Given the description of an element on the screen output the (x, y) to click on. 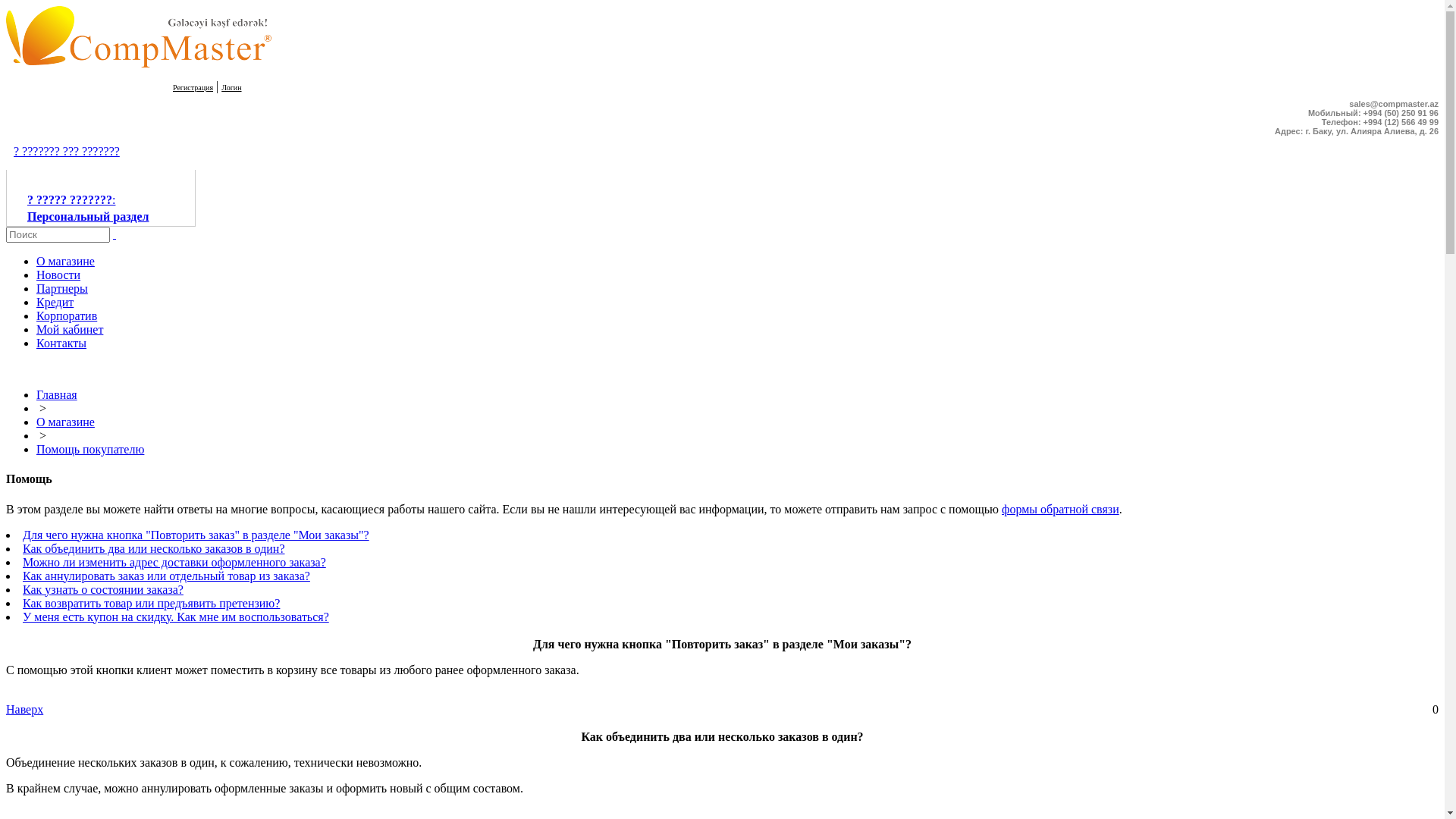
  Element type: text (114, 233)
? ??????? ??? ??????? Element type: text (62, 150)
? ????? ???????: Element type: text (71, 199)
